Given the description of an element on the screen output the (x, y) to click on. 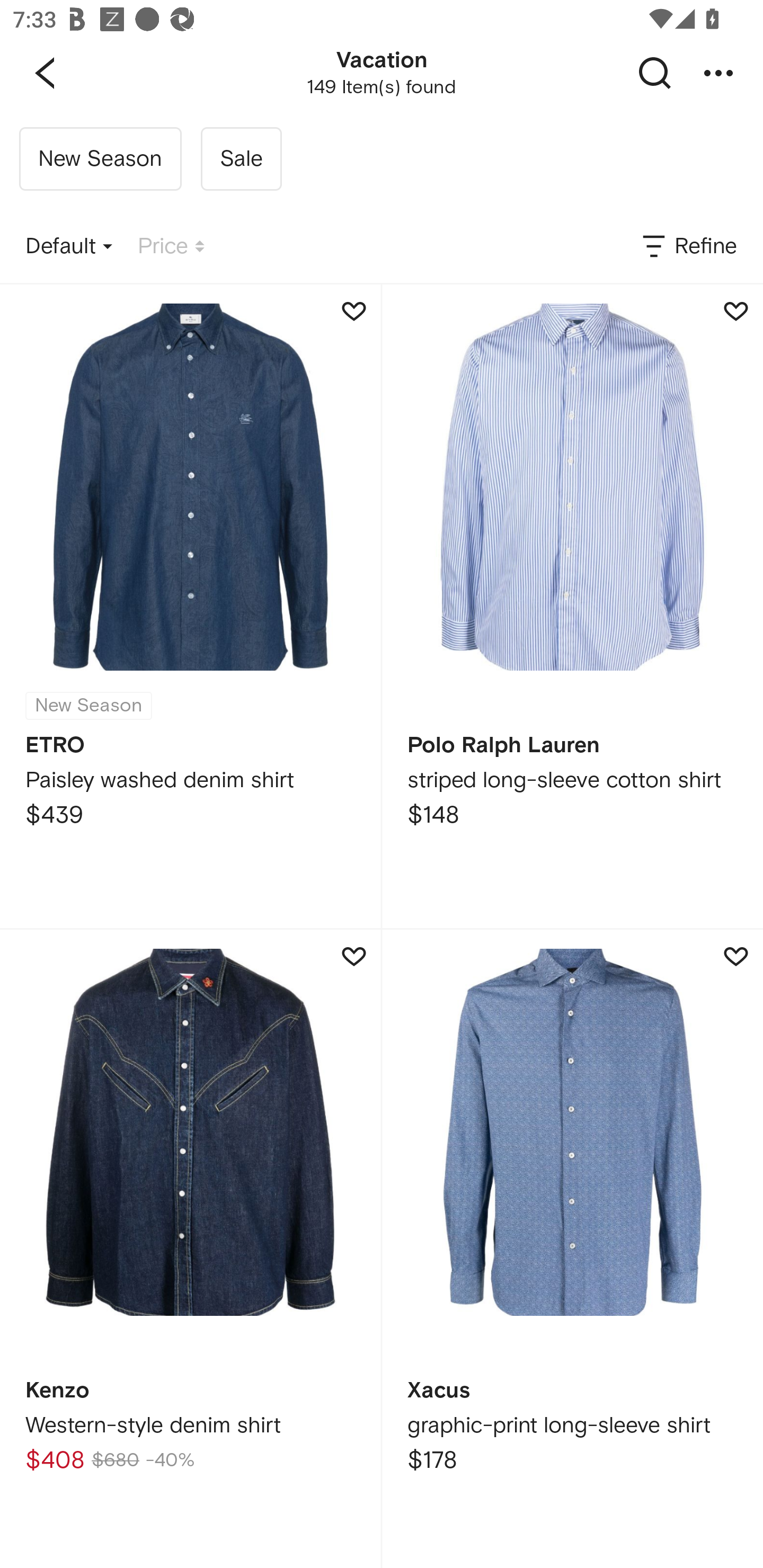
New Season (100, 158)
Sale (240, 158)
Default (68, 246)
Price (171, 246)
Refine (688, 246)
New Season ETRO Paisley washed denim shirt $439 (190, 605)
Kenzo Western-style denim shirt $408 $680 -40% (190, 1248)
Xacus graphic-print long-sleeve shirt $178 (572, 1248)
